Given the description of an element on the screen output the (x, y) to click on. 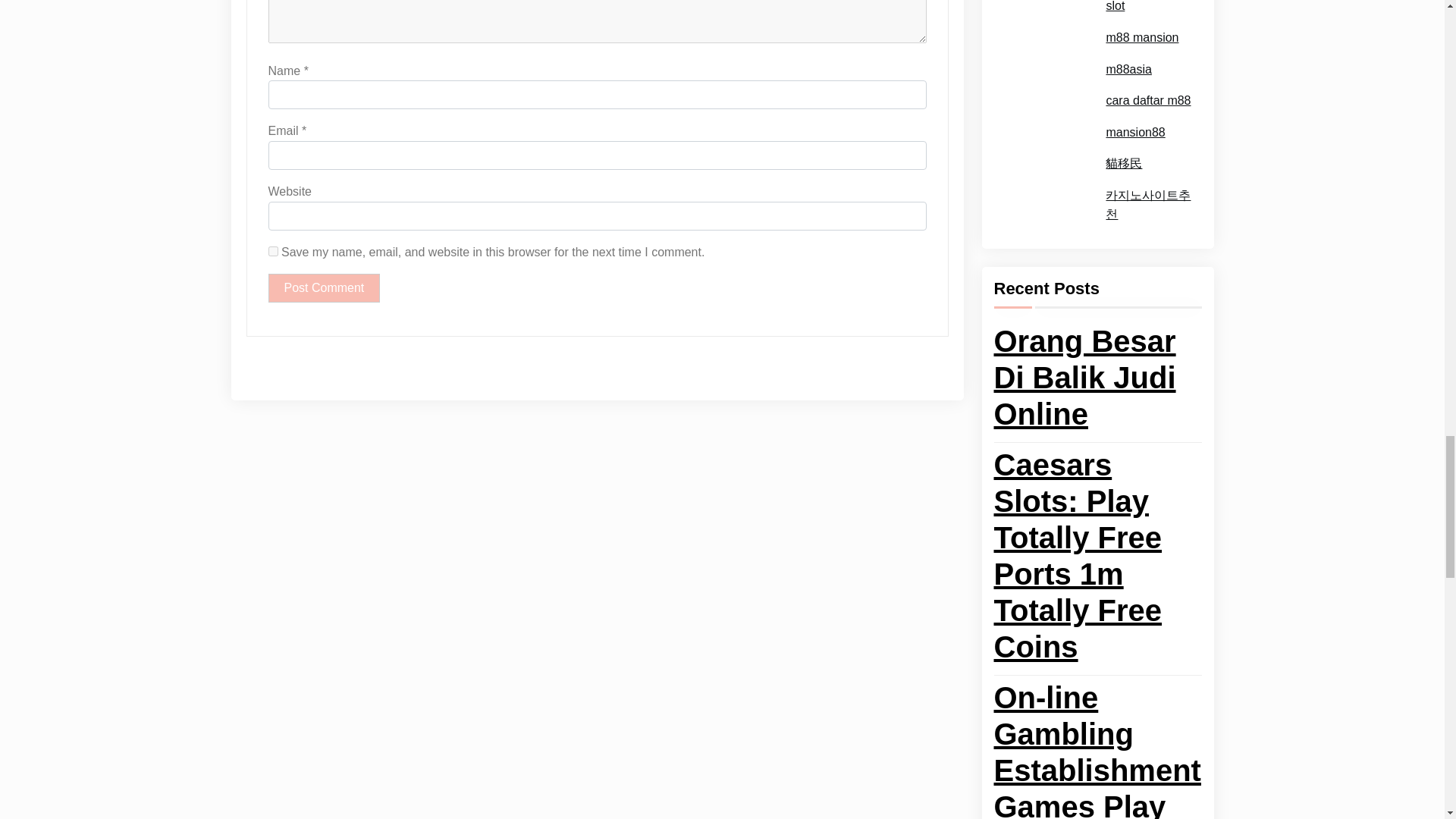
yes (272, 251)
Post Comment (323, 287)
Post Comment (323, 287)
